Given the description of an element on the screen output the (x, y) to click on. 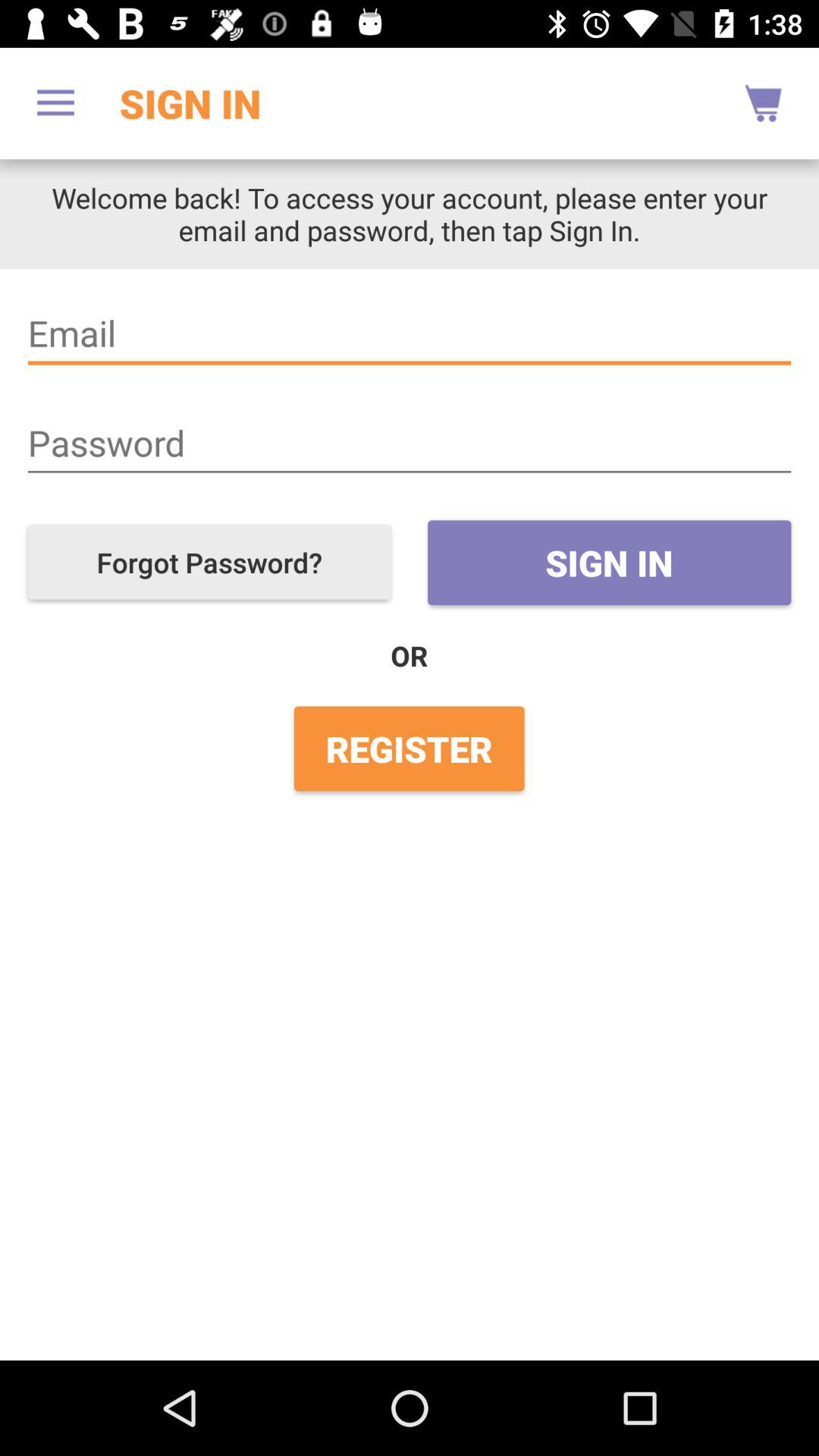
turn on the register (409, 748)
